Given the description of an element on the screen output the (x, y) to click on. 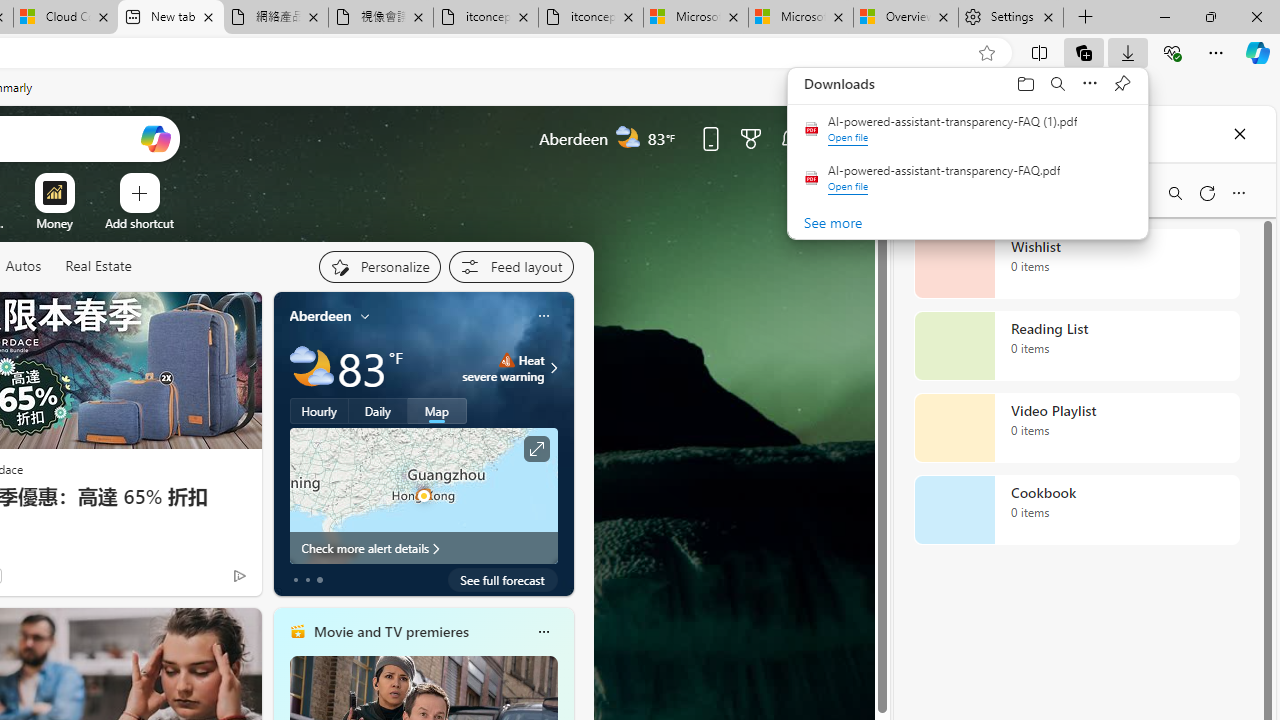
Real Estate (97, 267)
Movie and TV premieres (390, 631)
Personalize your feed" (379, 266)
Check more alert details (423, 547)
More options menu (1238, 192)
Pin downloads (1122, 83)
tab-1 (306, 579)
Open downloads folder (1025, 83)
tab-2 (319, 579)
Page settings (831, 138)
